Given the description of an element on the screen output the (x, y) to click on. 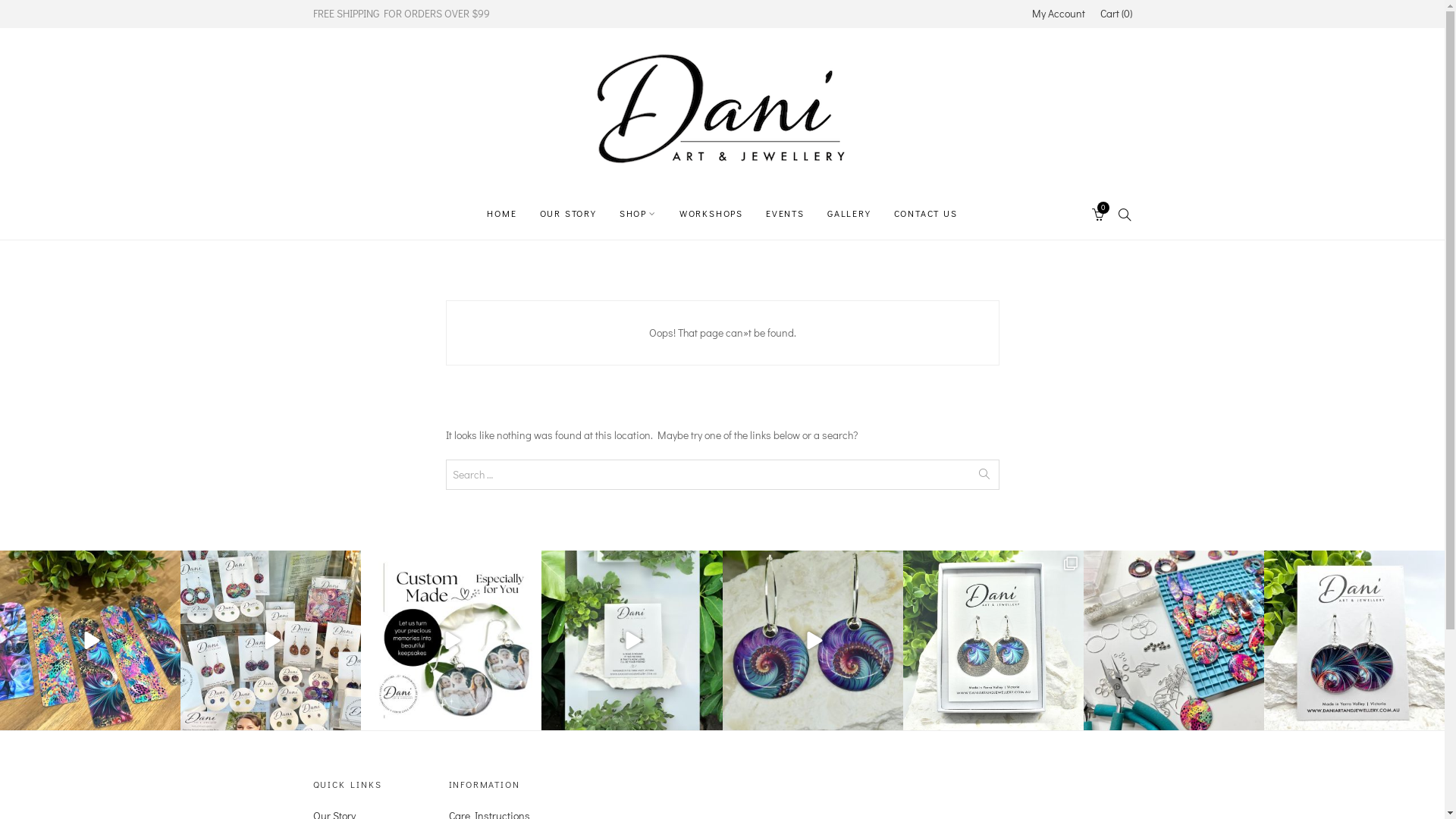
OUR STORY Element type: text (567, 212)
Cart
0 Element type: text (1098, 212)
Search Element type: text (276, 15)
GALLERY Element type: text (849, 212)
SEARCH Element type: text (1124, 212)
My Account Element type: text (1057, 13)
CONTACT US Element type: text (925, 212)
SHOP Element type: text (637, 212)
EVENTS Element type: text (784, 212)
HOME Element type: text (501, 212)
Search Element type: text (79, 15)
Cart 0 Element type: text (1115, 13)
WORKSHOPS Element type: text (711, 212)
